Given the description of an element on the screen output the (x, y) to click on. 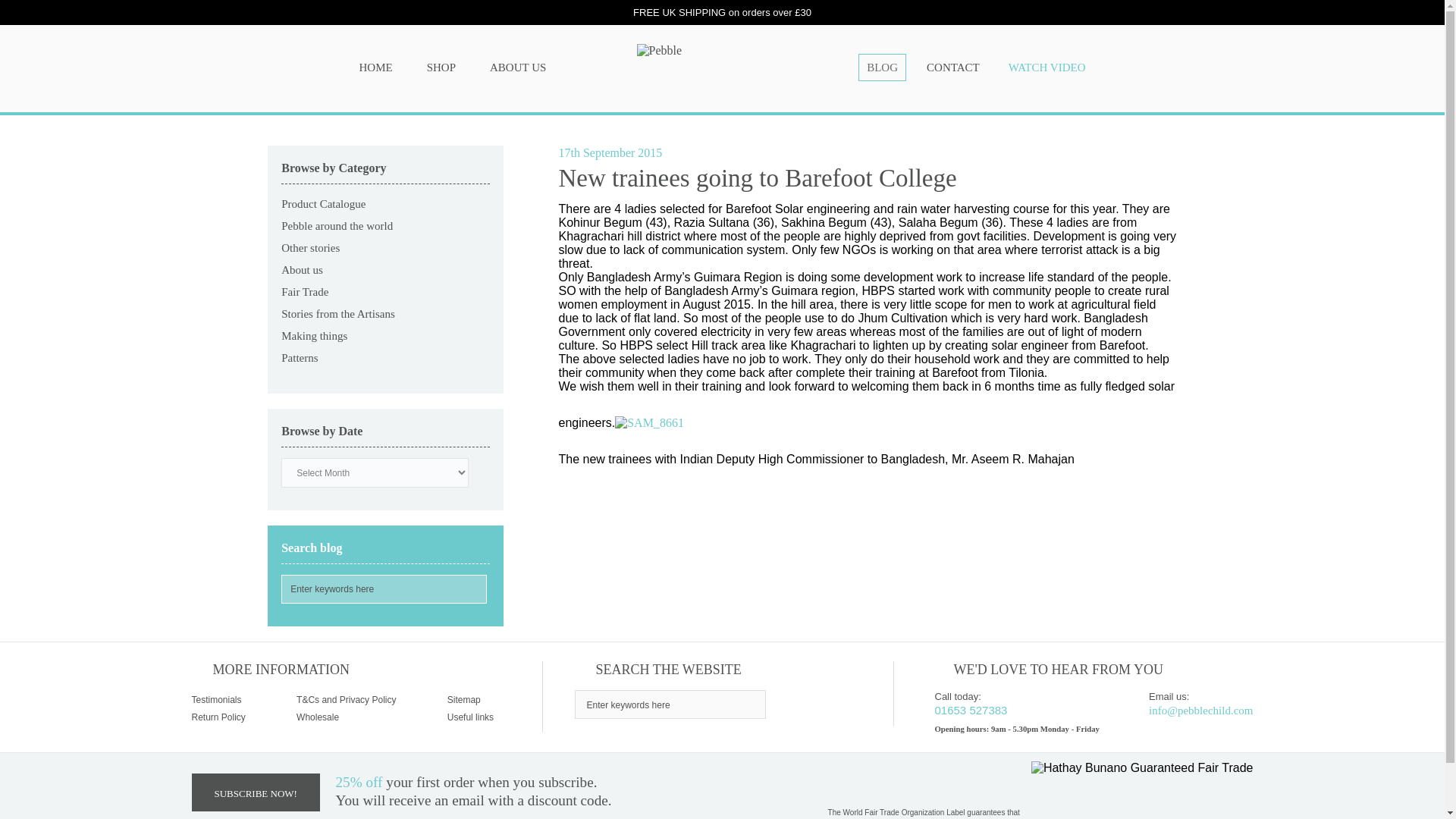
CONTACT (953, 67)
HOME (375, 67)
Useful links (469, 716)
Wholesale (318, 716)
Sitemap (463, 699)
Making things (314, 336)
Pebble around the world (337, 225)
Patterns (299, 357)
Fair Trade (305, 291)
WATCH VIDEO (1047, 67)
Enter keywords here (670, 704)
ABOUT US (517, 67)
Product Catalogue (323, 203)
Other stories (310, 247)
SHOP (441, 67)
